Given the description of an element on the screen output the (x, y) to click on. 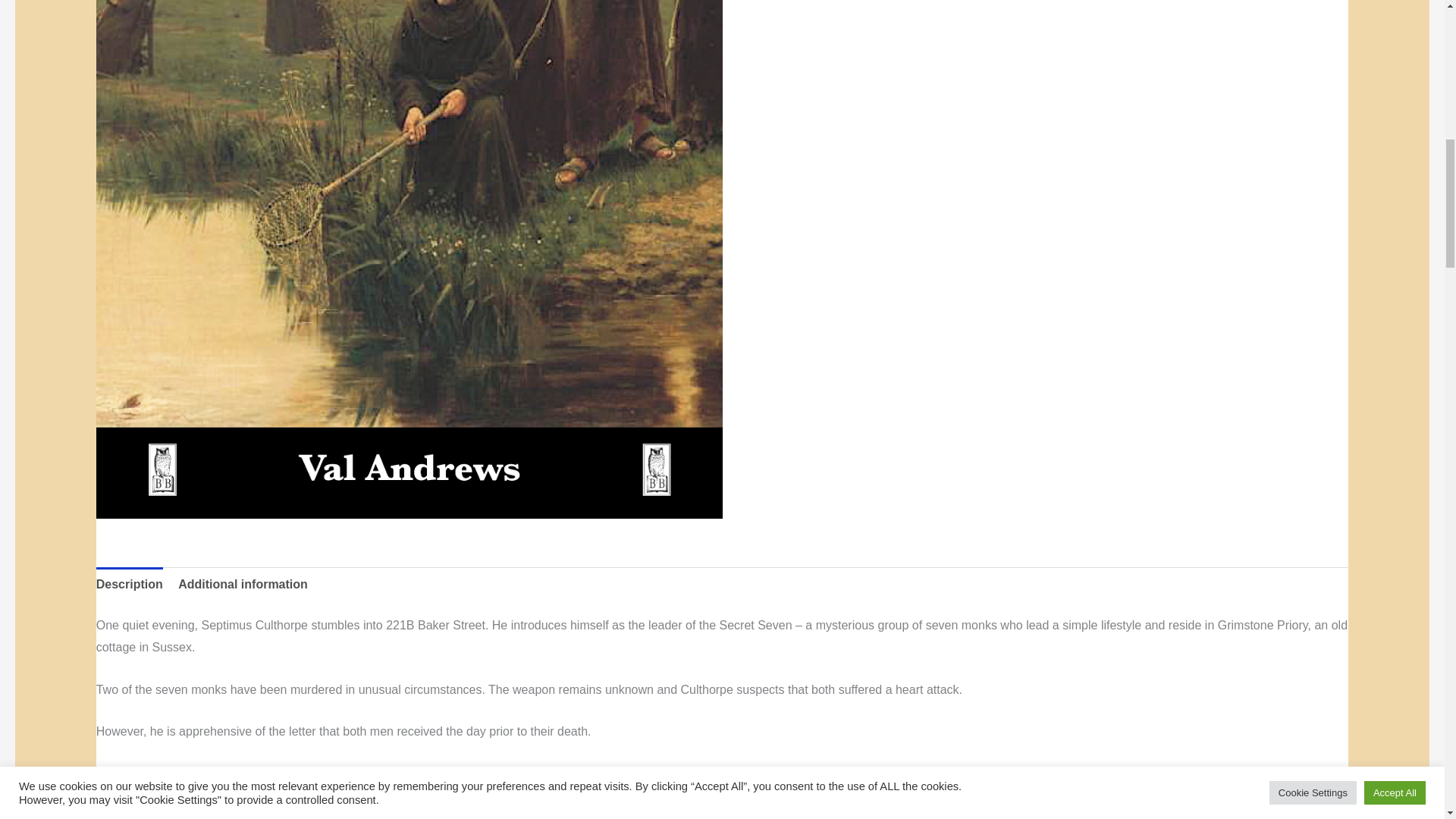
Additional information (242, 584)
Description (129, 584)
